Given the description of an element on the screen output the (x, y) to click on. 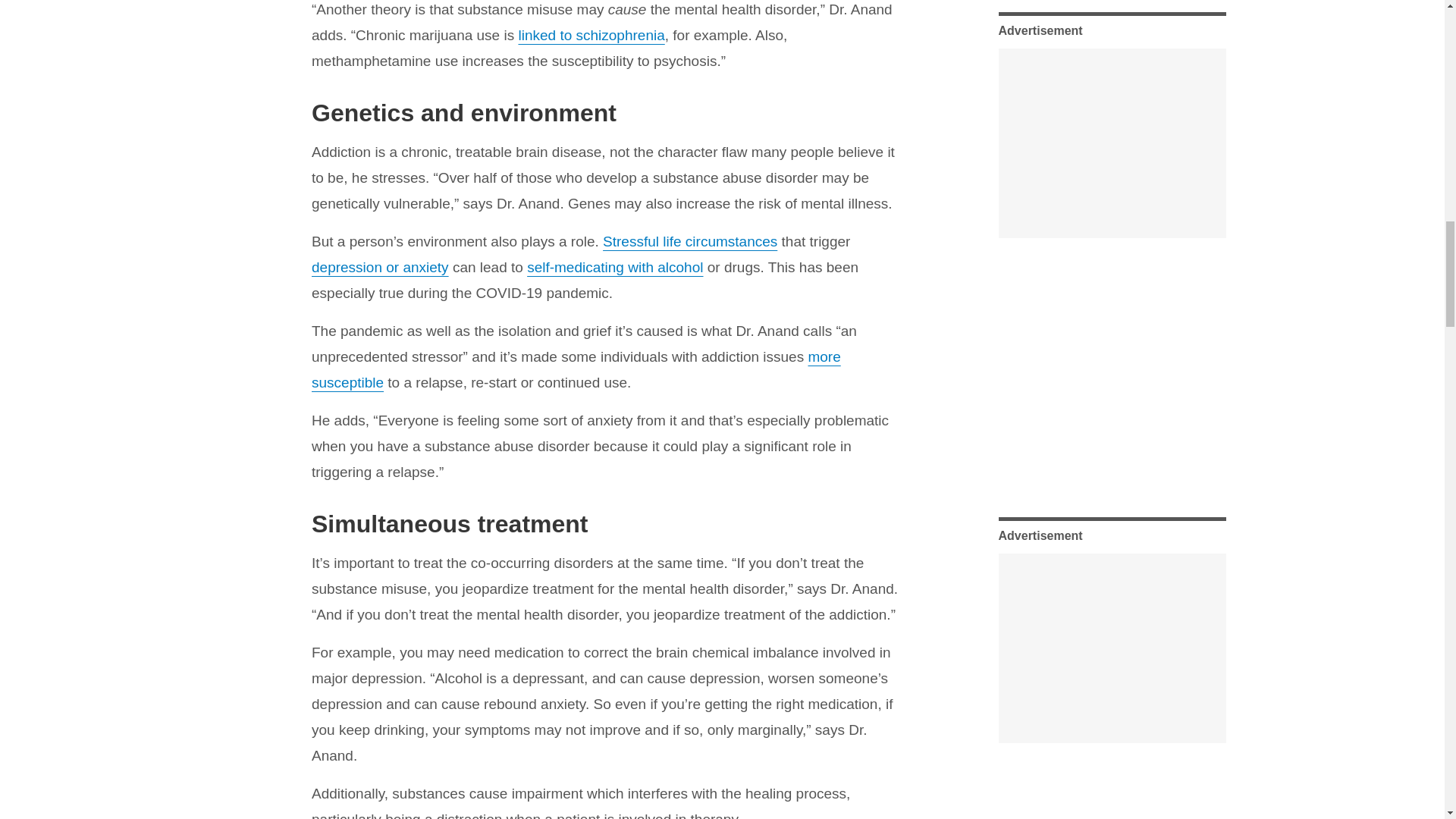
depression or anxiety (379, 267)
Stressful life circumstances (689, 241)
linked to schizophrenia (590, 35)
more susceptible (576, 369)
self-medicating with alcohol (615, 267)
